Given the description of an element on the screen output the (x, y) to click on. 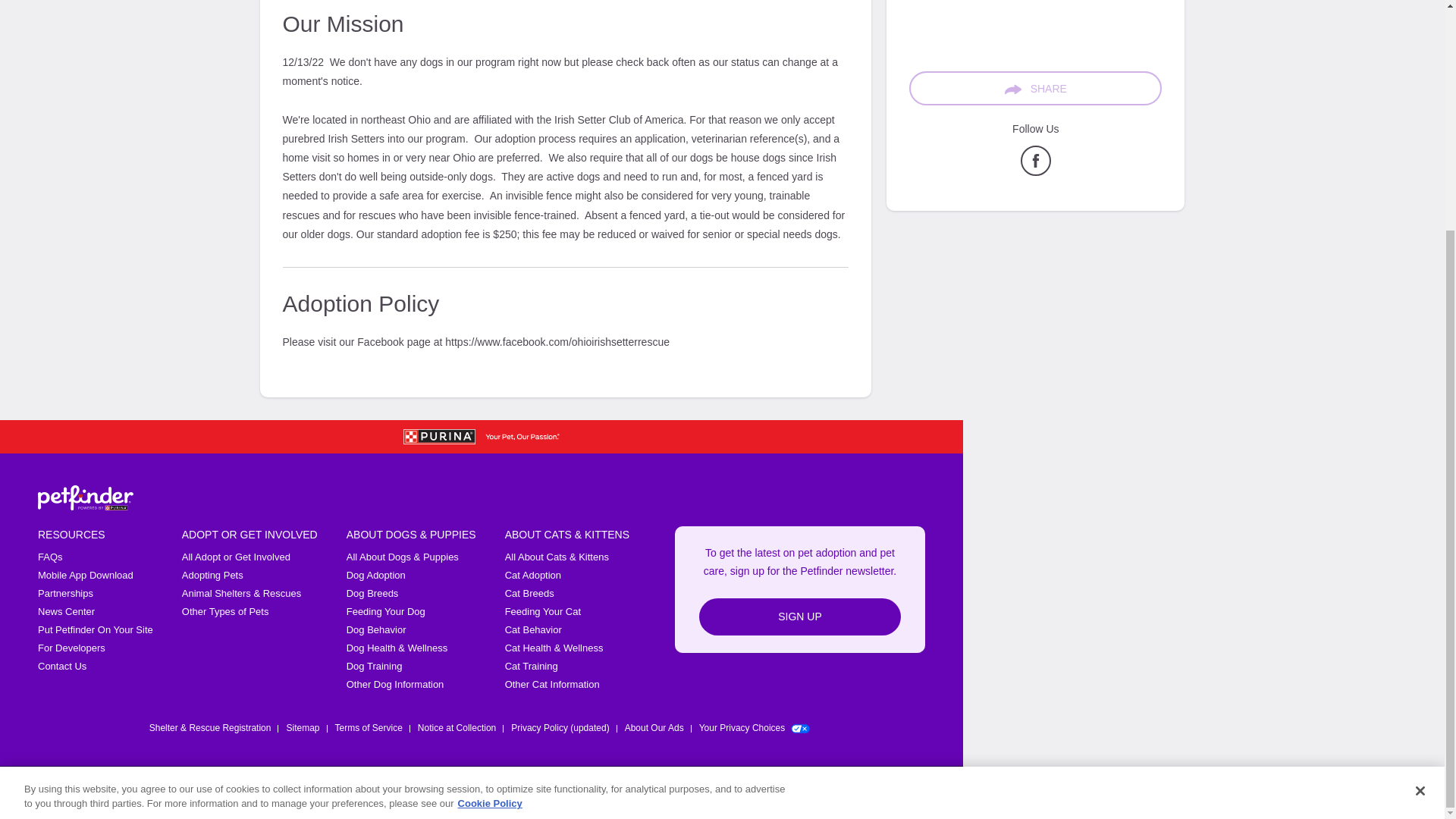
Instagram (837, 791)
Pinterest (916, 791)
Facebook (759, 791)
Follow Us on Facebook (1035, 172)
Petfinder Logo (85, 497)
YouTube (877, 791)
Twitter (798, 791)
